Given the description of an element on the screen output the (x, y) to click on. 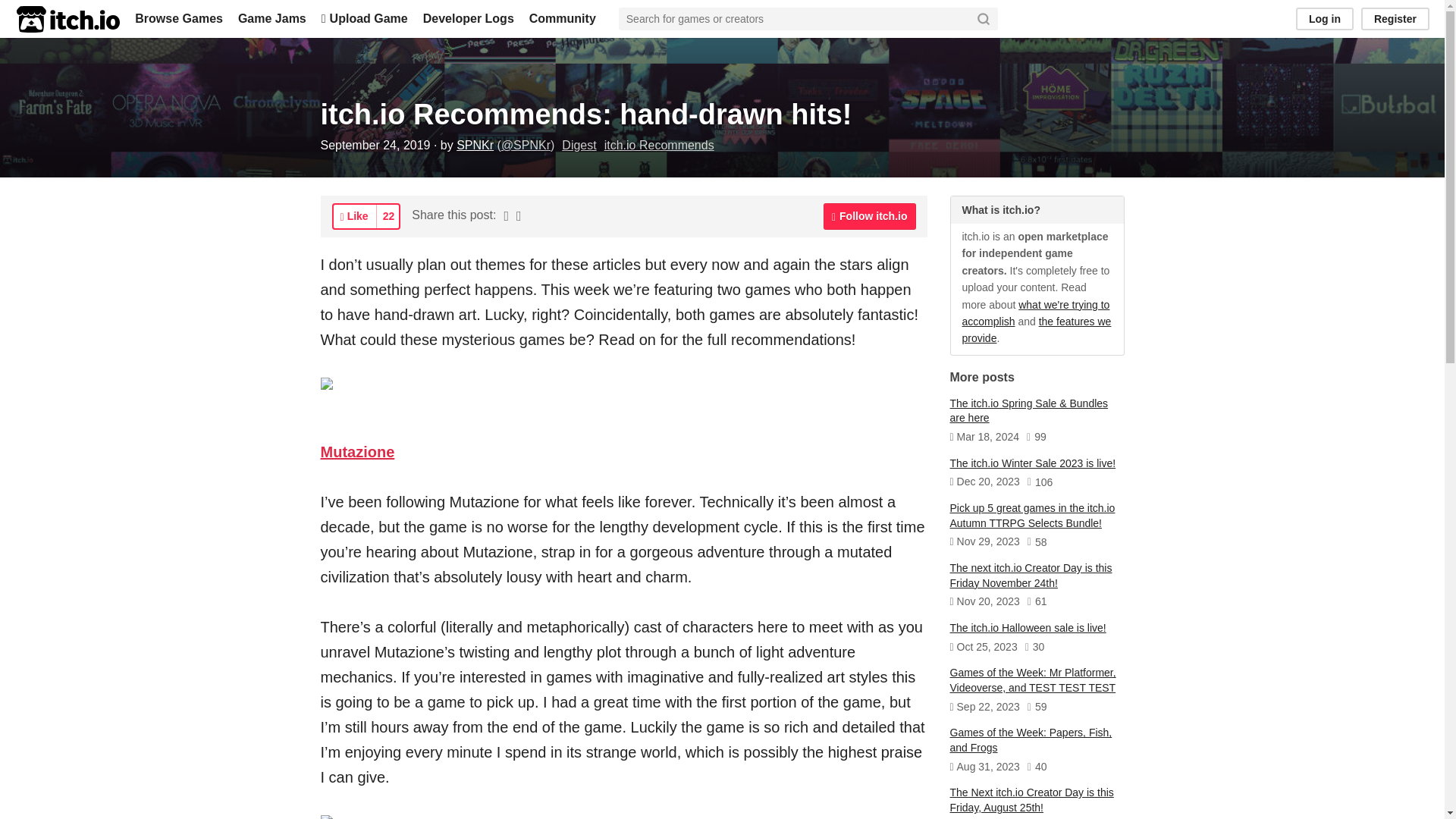
Mutazione (357, 451)
Register (1395, 18)
106 likes (1039, 482)
58 likes (1036, 542)
30 likes (1035, 647)
Like (354, 216)
itch.io - indie game hosting marketplace (67, 18)
SPNKr (475, 144)
99 likes (1036, 437)
Log in (1324, 18)
2019-09-24 16:02:25 (374, 144)
itch.io (67, 18)
itch.io Recommends (659, 144)
Community (562, 18)
Digest (578, 144)
